Given the description of an element on the screen output the (x, y) to click on. 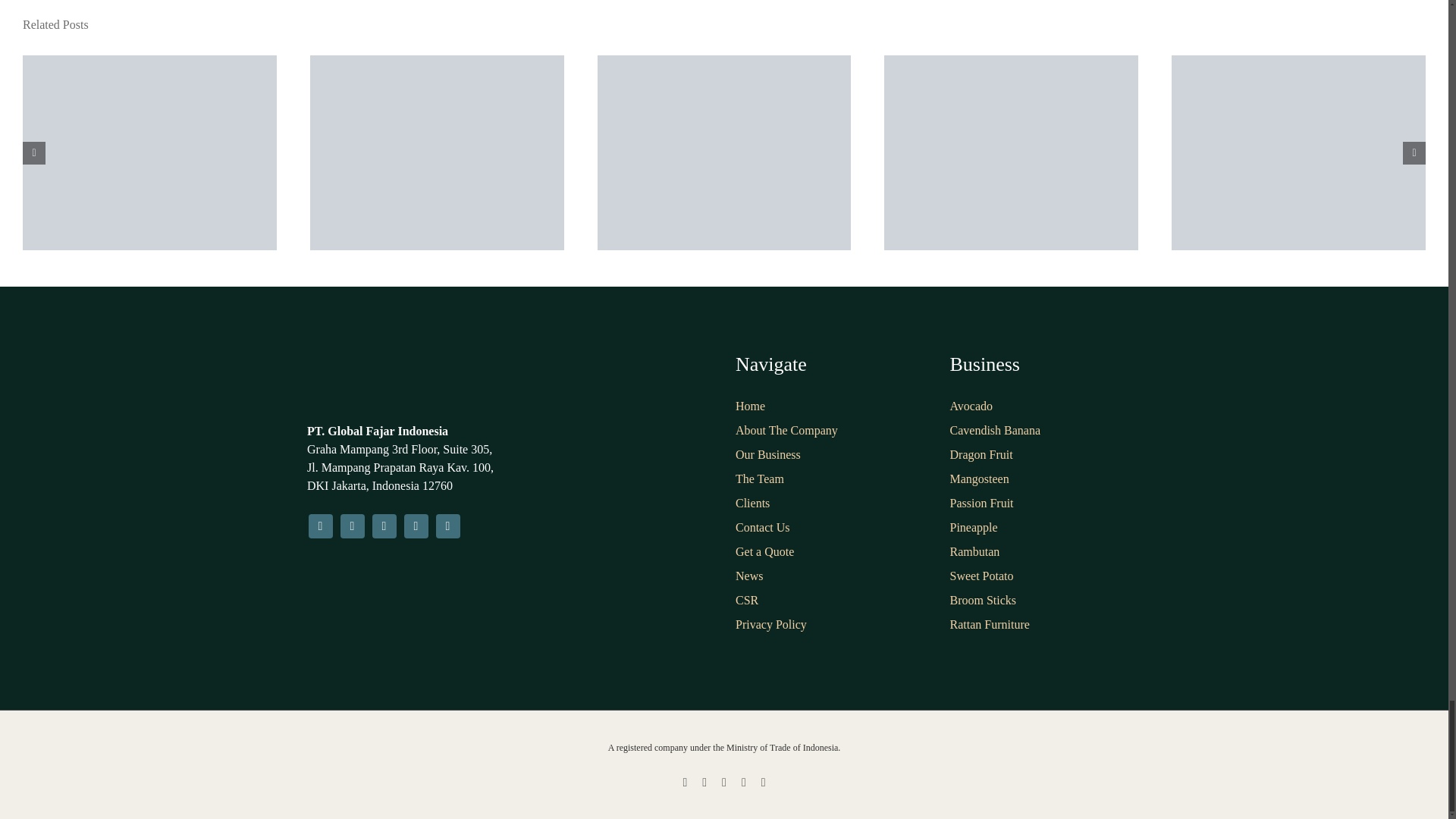
logo-globalfajar-80 (375, 379)
Instagram (351, 526)
Facebook (319, 526)
